Given the description of an element on the screen output the (x, y) to click on. 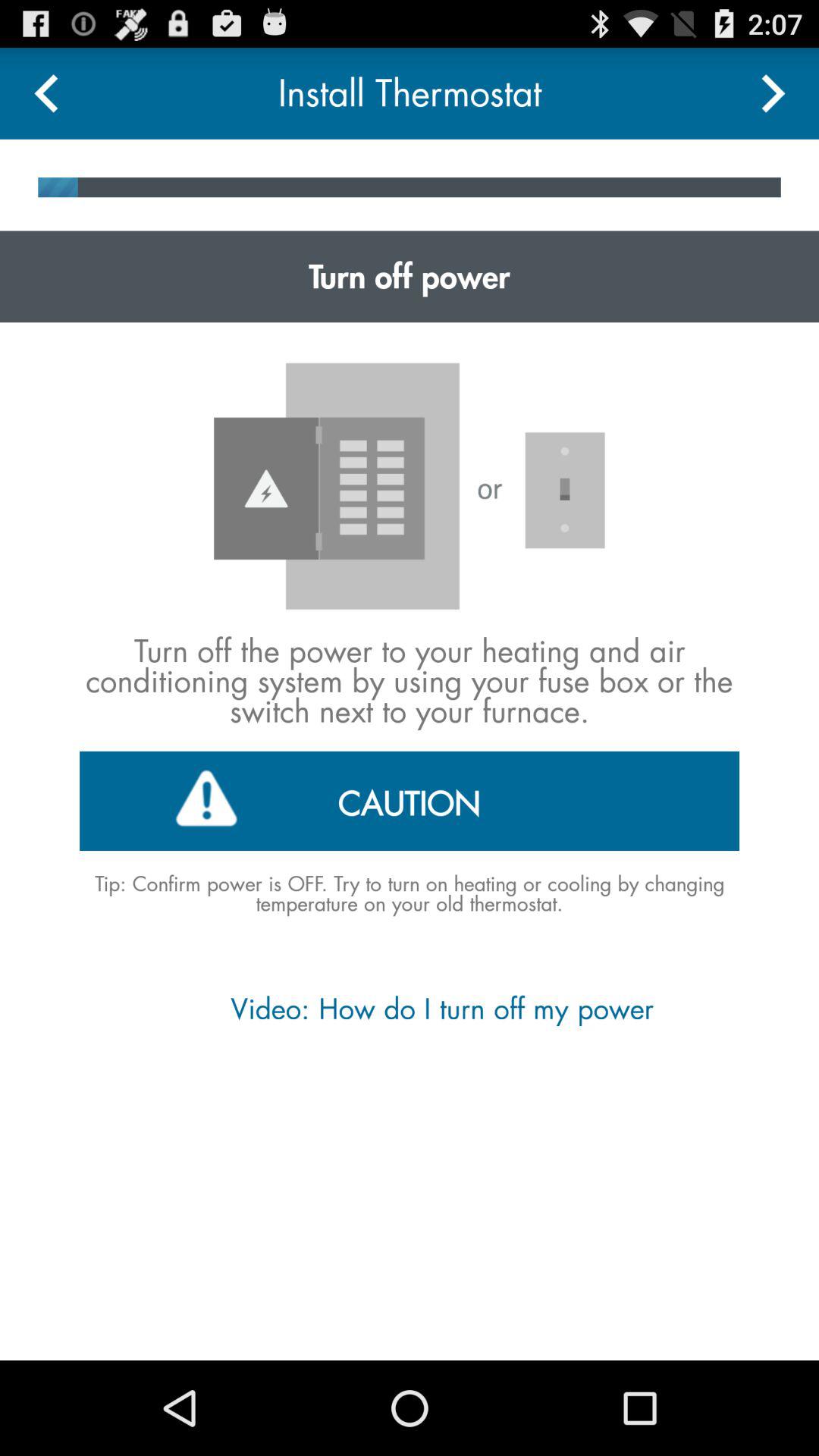
press the video how do at the bottom (408, 1008)
